Given the description of an element on the screen output the (x, y) to click on. 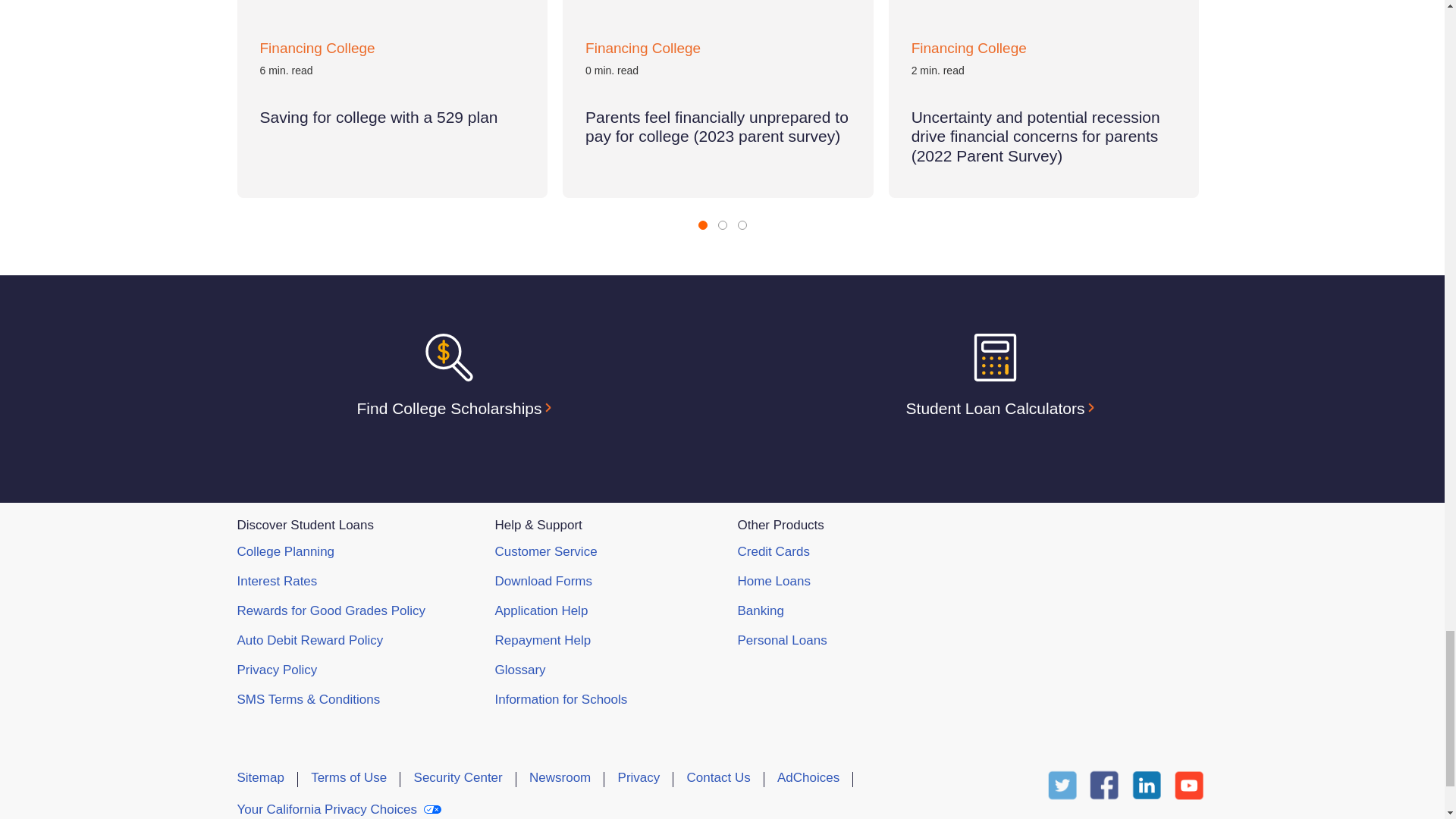
Home Loans (772, 581)
Application Help (541, 610)
Information for Schools (561, 699)
Credit Cards (772, 551)
College Planning (284, 551)
Download Forms (543, 581)
Glossary (519, 669)
Rewards for Good Grades Policy (330, 610)
Auto Debit Reward Policy (308, 640)
Customer Service (545, 551)
